Given the description of an element on the screen output the (x, y) to click on. 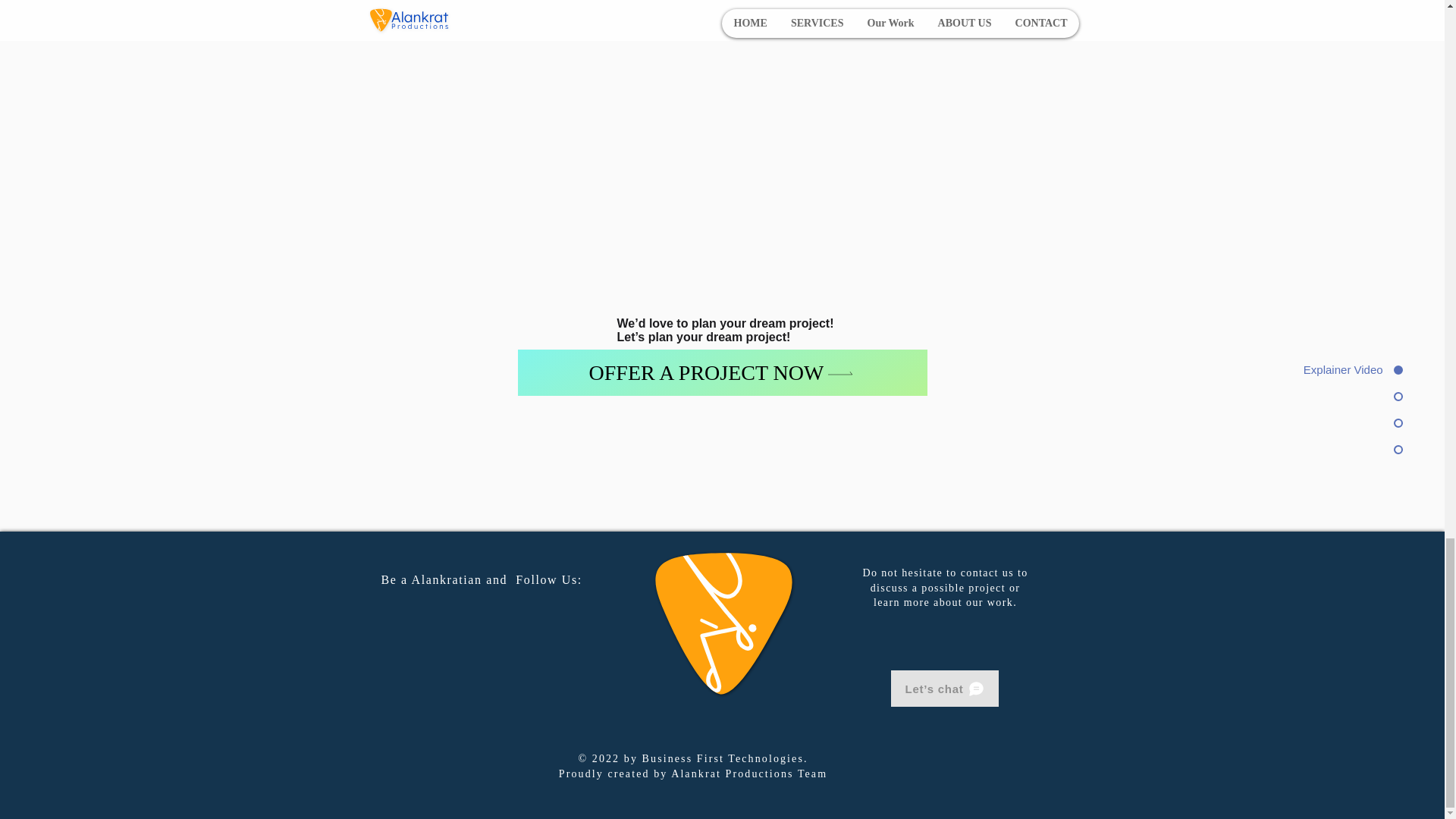
OFFER A PROJECT NOW (721, 372)
